Given the description of an element on the screen output the (x, y) to click on. 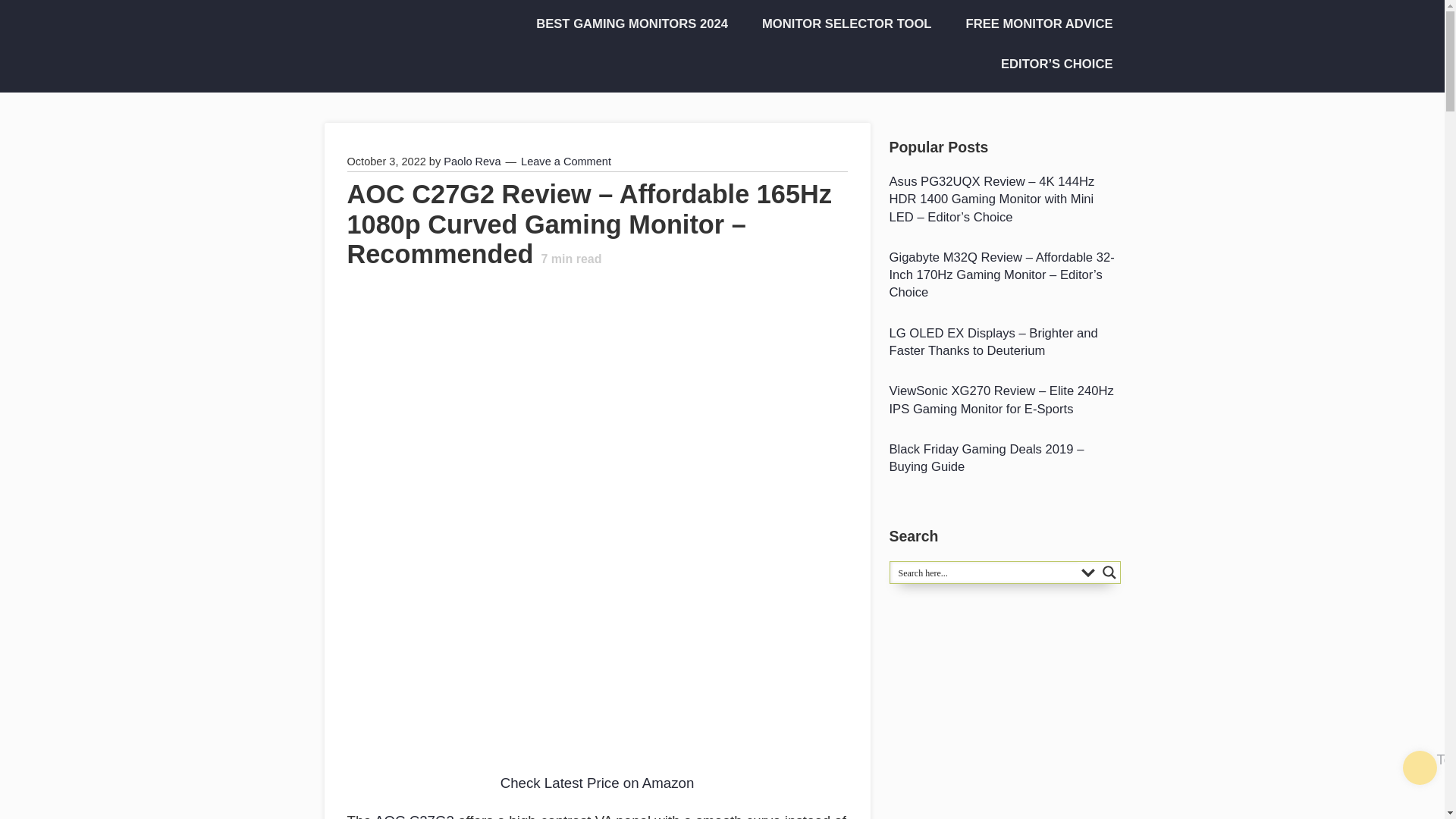
Check Latest Price on Amazon (597, 782)
Back To Top (1420, 767)
FREE MONITOR ADVICE (1033, 24)
Leave a Comment (566, 161)
MONITOR SELECTOR TOOL (841, 24)
Top (1420, 767)
Paolo Reva (472, 161)
AOC C27G2 (414, 816)
Free Gaming Monitor Advice Service (1033, 24)
